Given the description of an element on the screen output the (x, y) to click on. 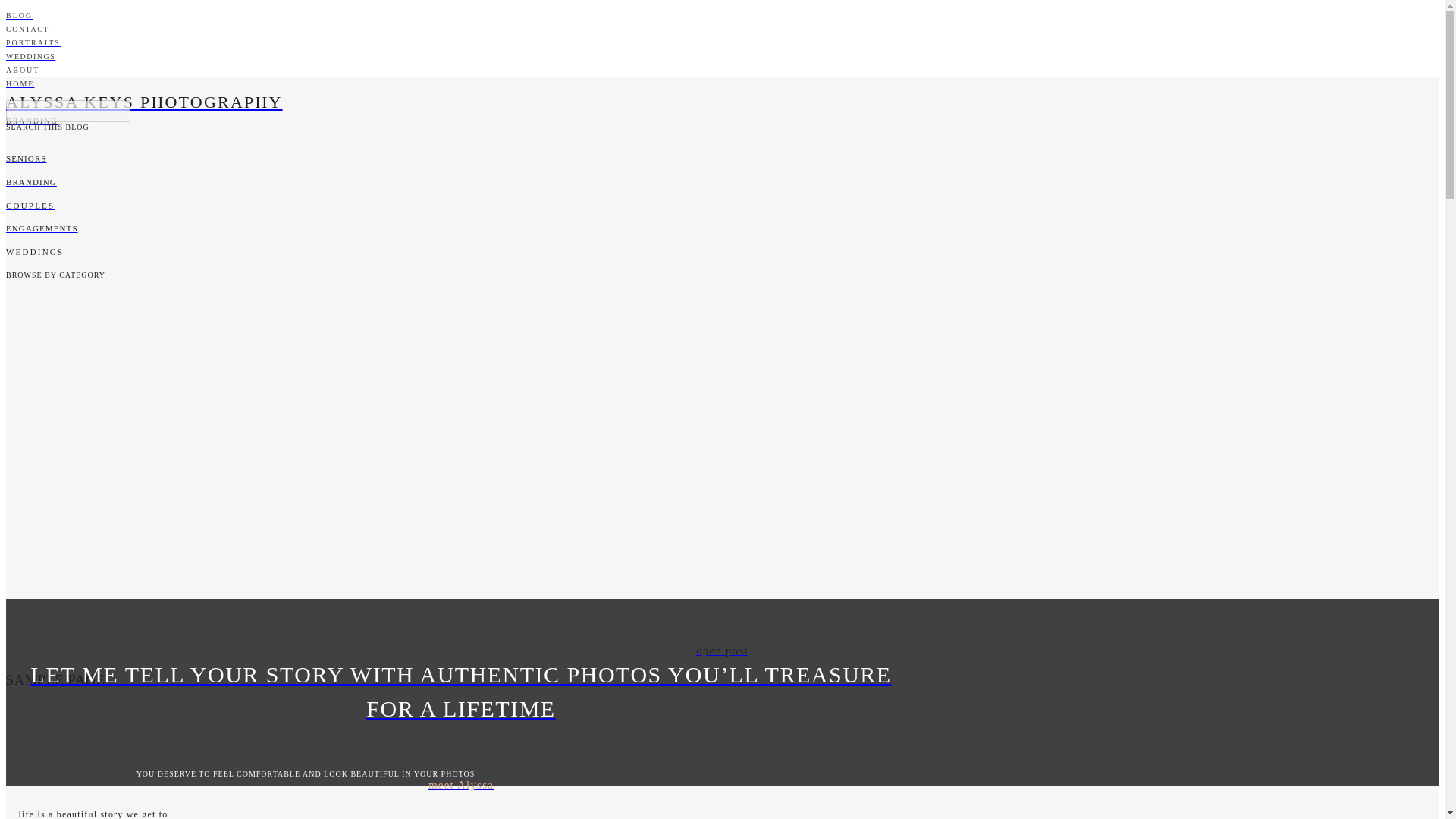
BOOK NOW (460, 644)
BRANDING (460, 182)
WEDDINGS (460, 56)
BLOG (460, 15)
HOME (460, 83)
SENIORS (460, 159)
ABOUT (460, 69)
ALYSSA KEYS PHOTOGRAPHY (460, 102)
BRANDING (460, 120)
CONTACT (460, 29)
COUPLES (460, 206)
meet Alyssa (460, 784)
WEDDINGS (460, 252)
PORTRAITS (460, 42)
ENGAGEMENTS (460, 228)
